Given the description of an element on the screen output the (x, y) to click on. 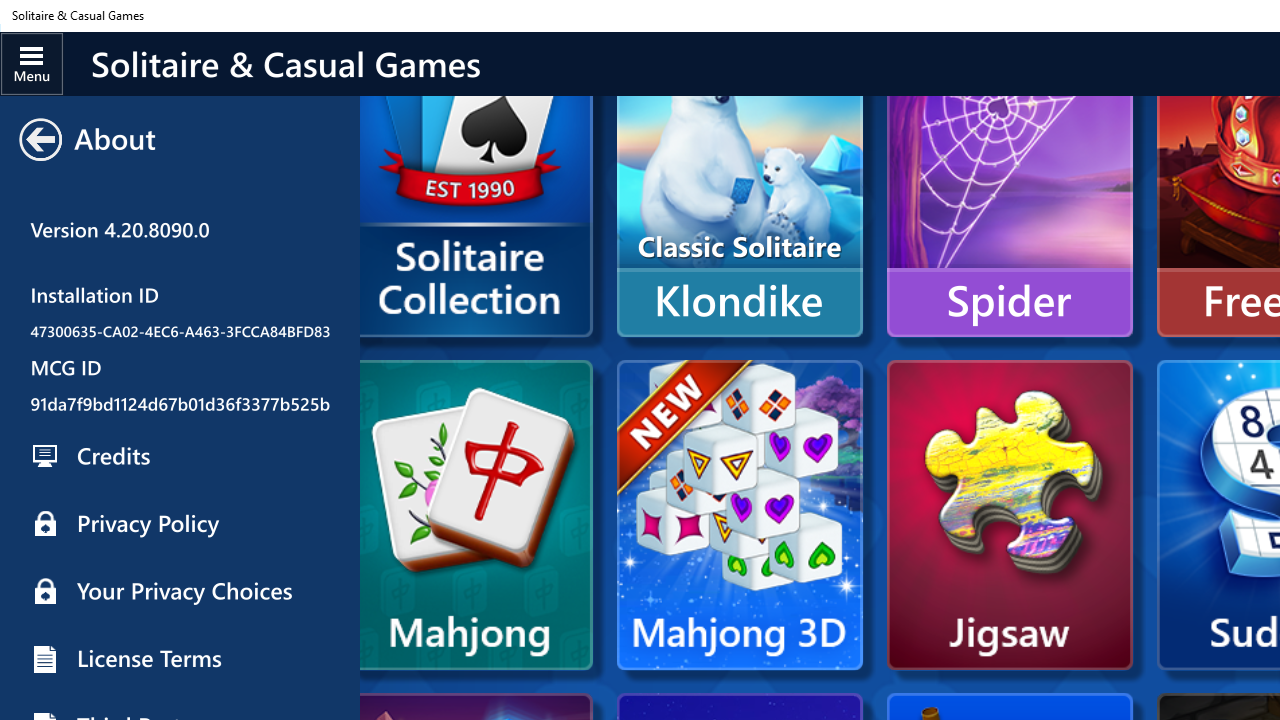
Mahjong 3D (739, 515)
Full Screen View (179, 260)
Privacy Policy (179, 524)
